Given the description of an element on the screen output the (x, y) to click on. 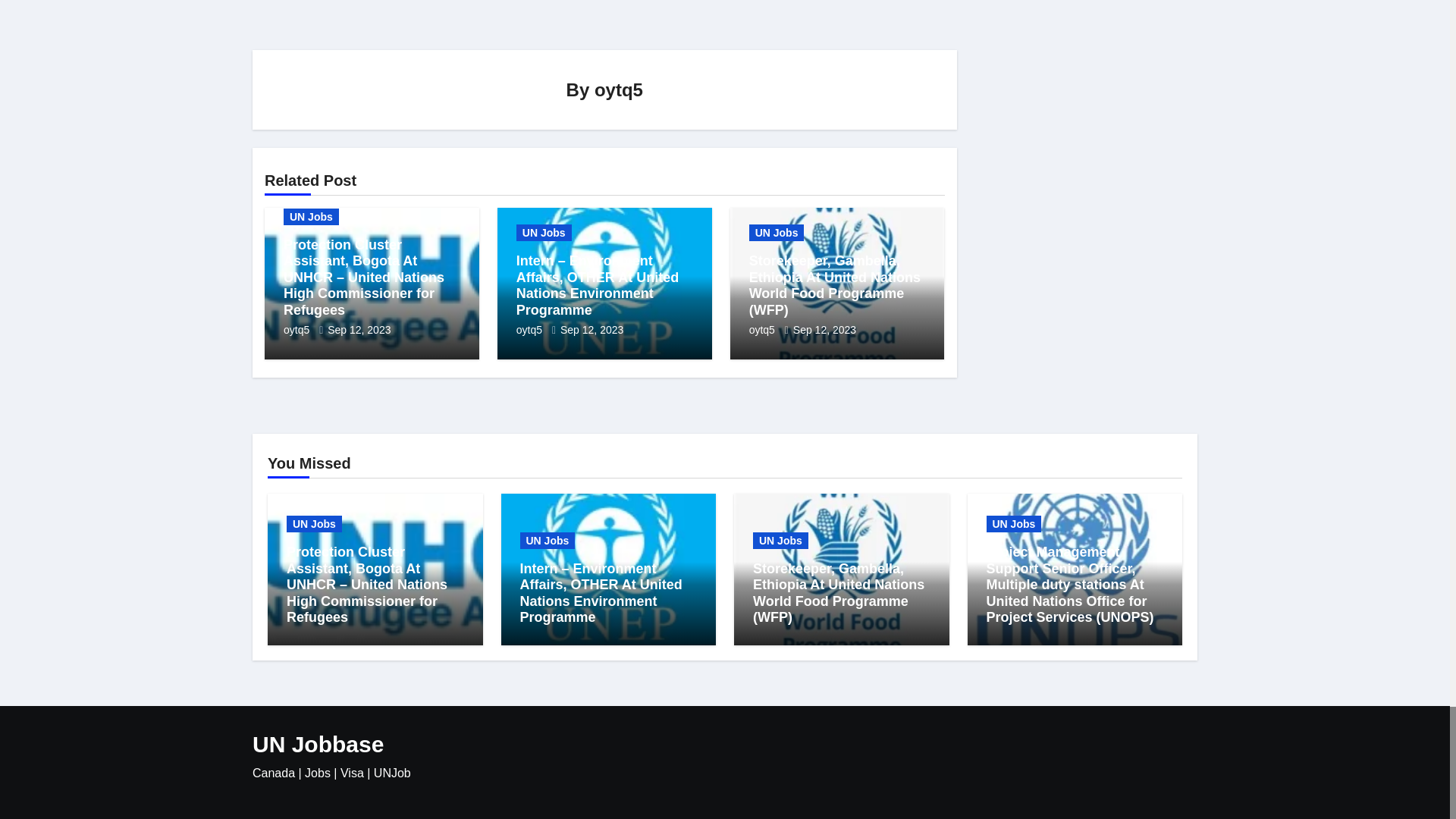
Sep 12, 2023 (591, 329)
oytq5 (298, 329)
UN Jobs (311, 216)
UN Jobs (544, 232)
oytq5 (618, 89)
UN Jobs (777, 232)
Sep 12, 2023 (358, 329)
oytq5 (530, 329)
